Given the description of an element on the screen output the (x, y) to click on. 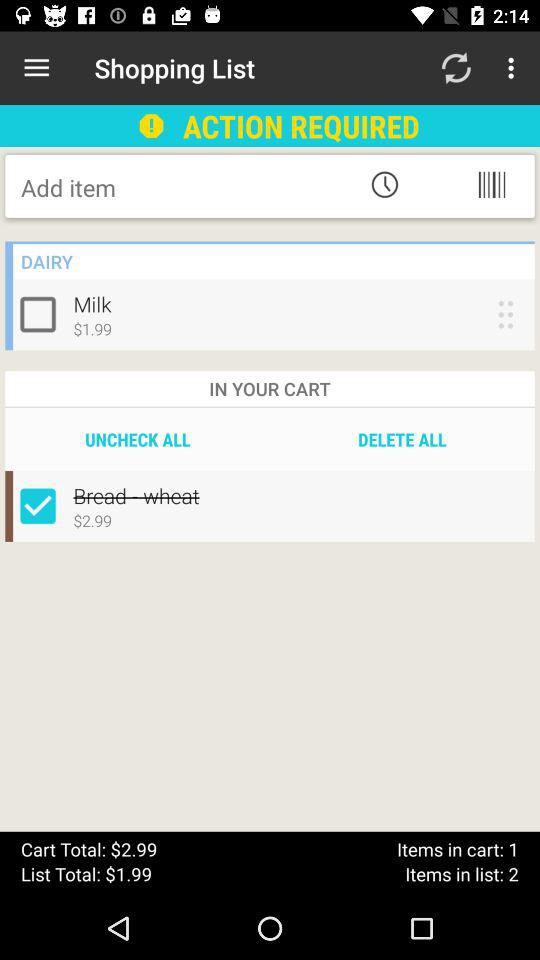
click the icon to the left of shopping list item (36, 68)
